Given the description of an element on the screen output the (x, y) to click on. 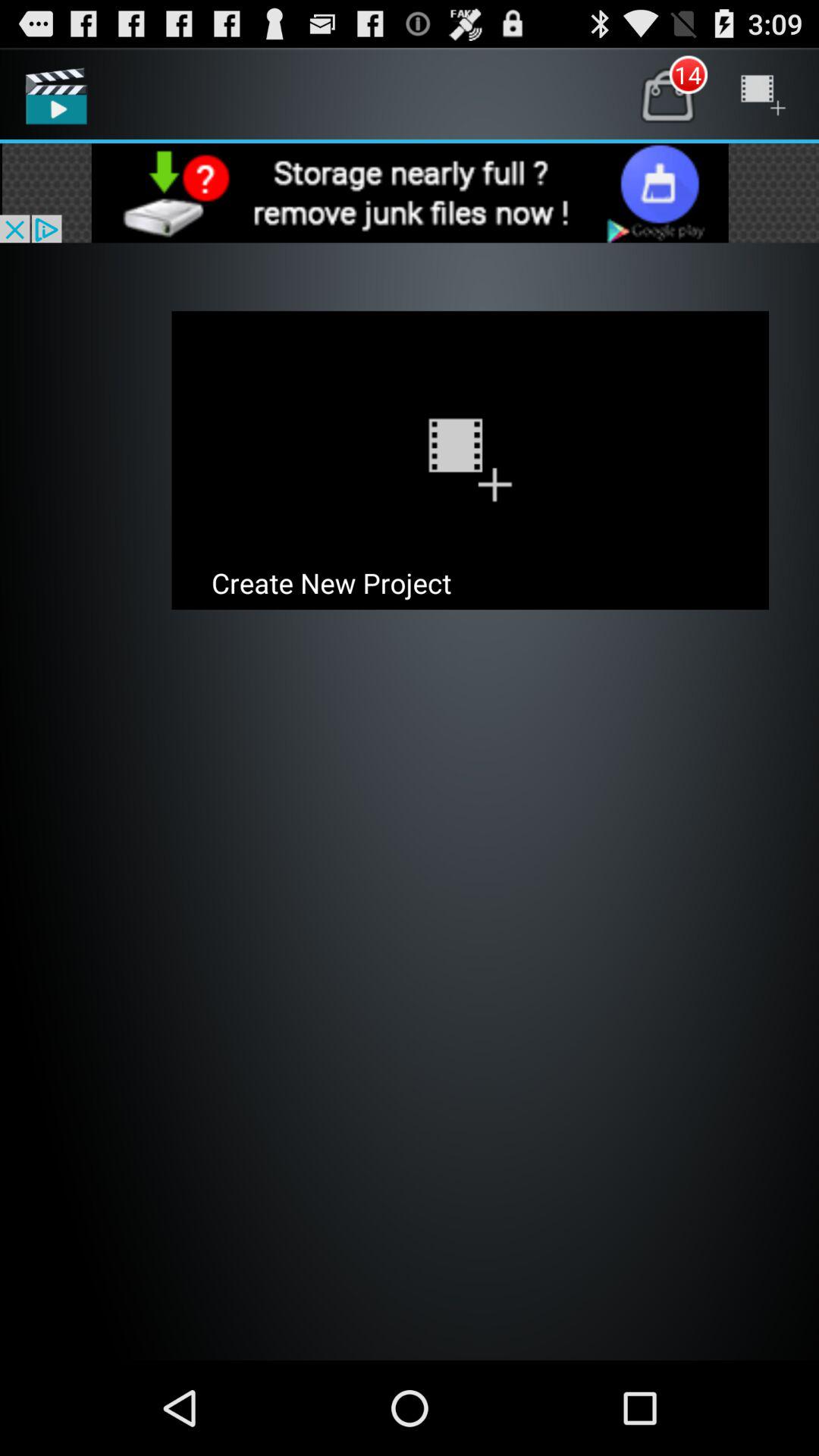
showing advertisements (409, 192)
